Given the description of an element on the screen output the (x, y) to click on. 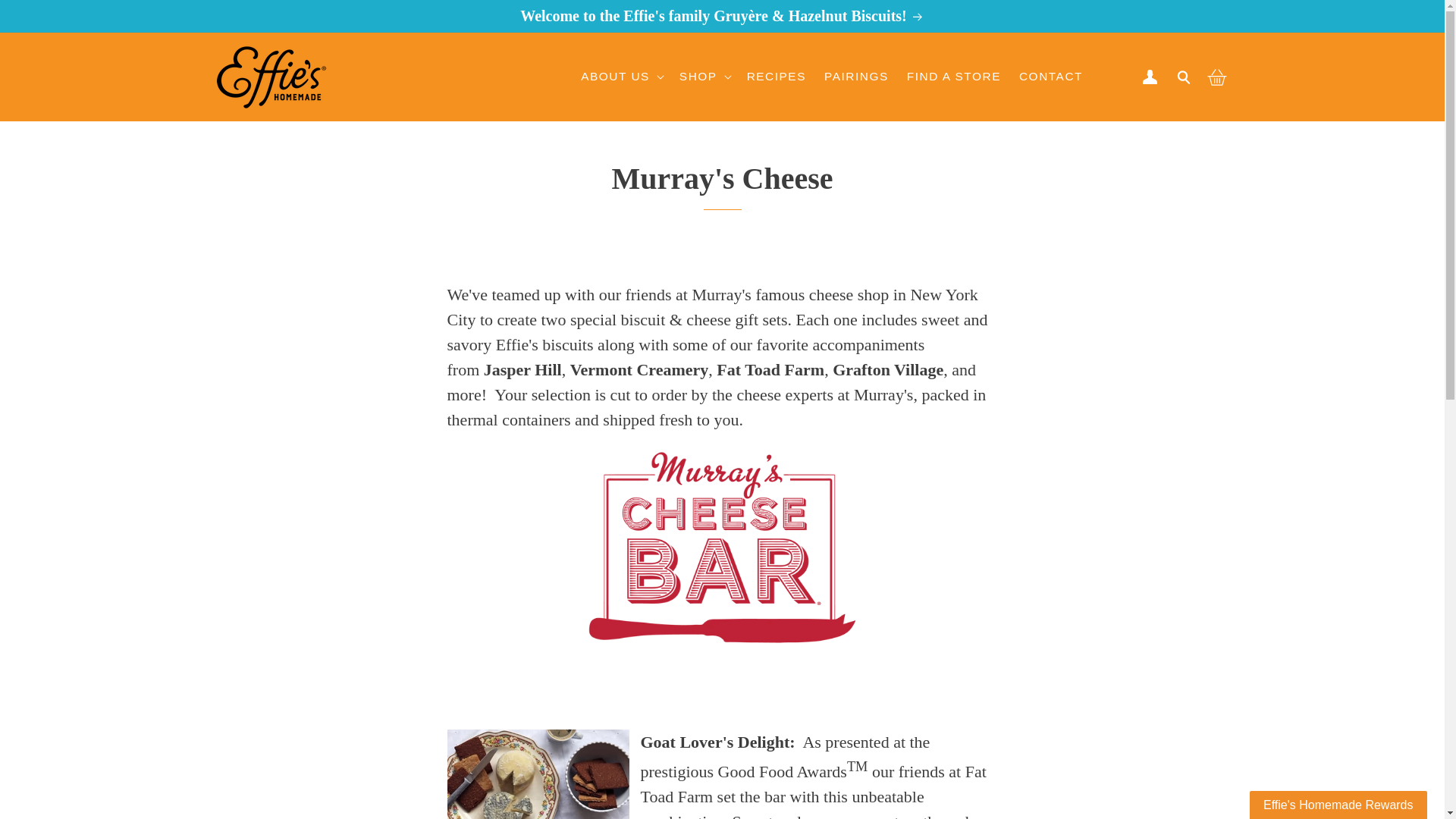
ABOUT US (614, 75)
SKIP TO CONTENT (45, 40)
SHOP (698, 75)
